Given the description of an element on the screen output the (x, y) to click on. 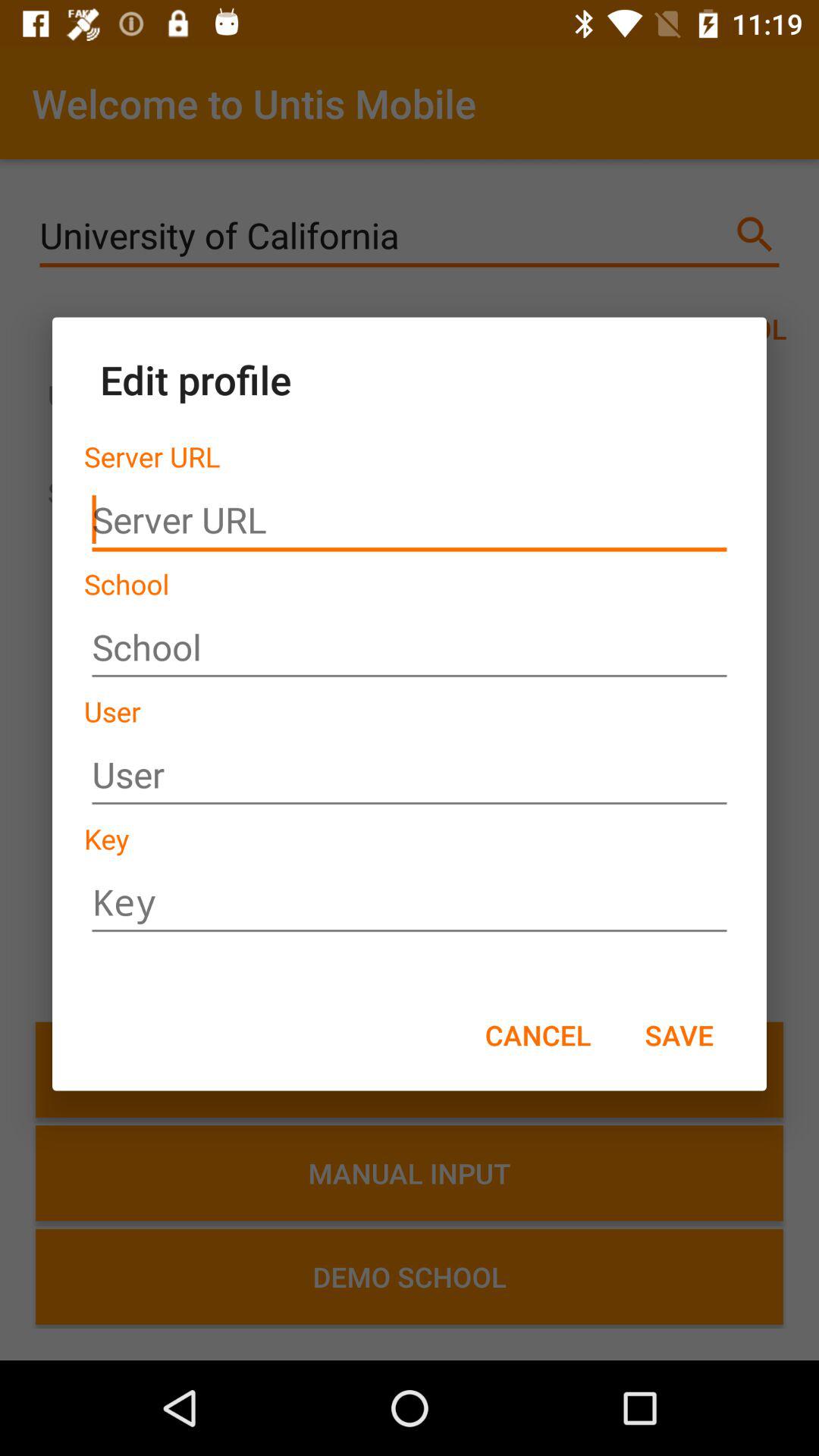
enter the name you use to log in (409, 775)
